Given the description of an element on the screen output the (x, y) to click on. 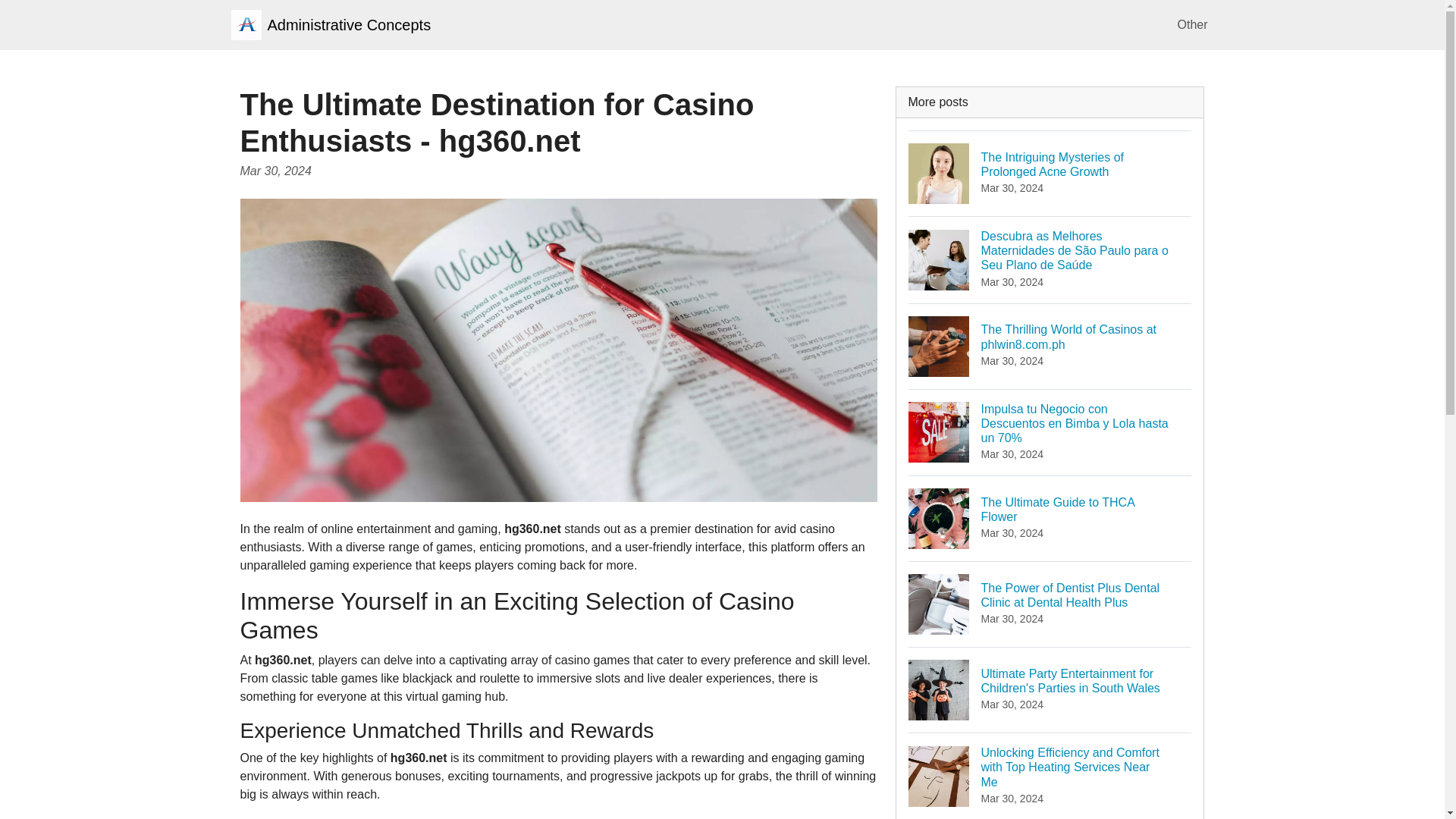
Administrative Concepts (330, 24)
Other (1050, 518)
